Given the description of an element on the screen output the (x, y) to click on. 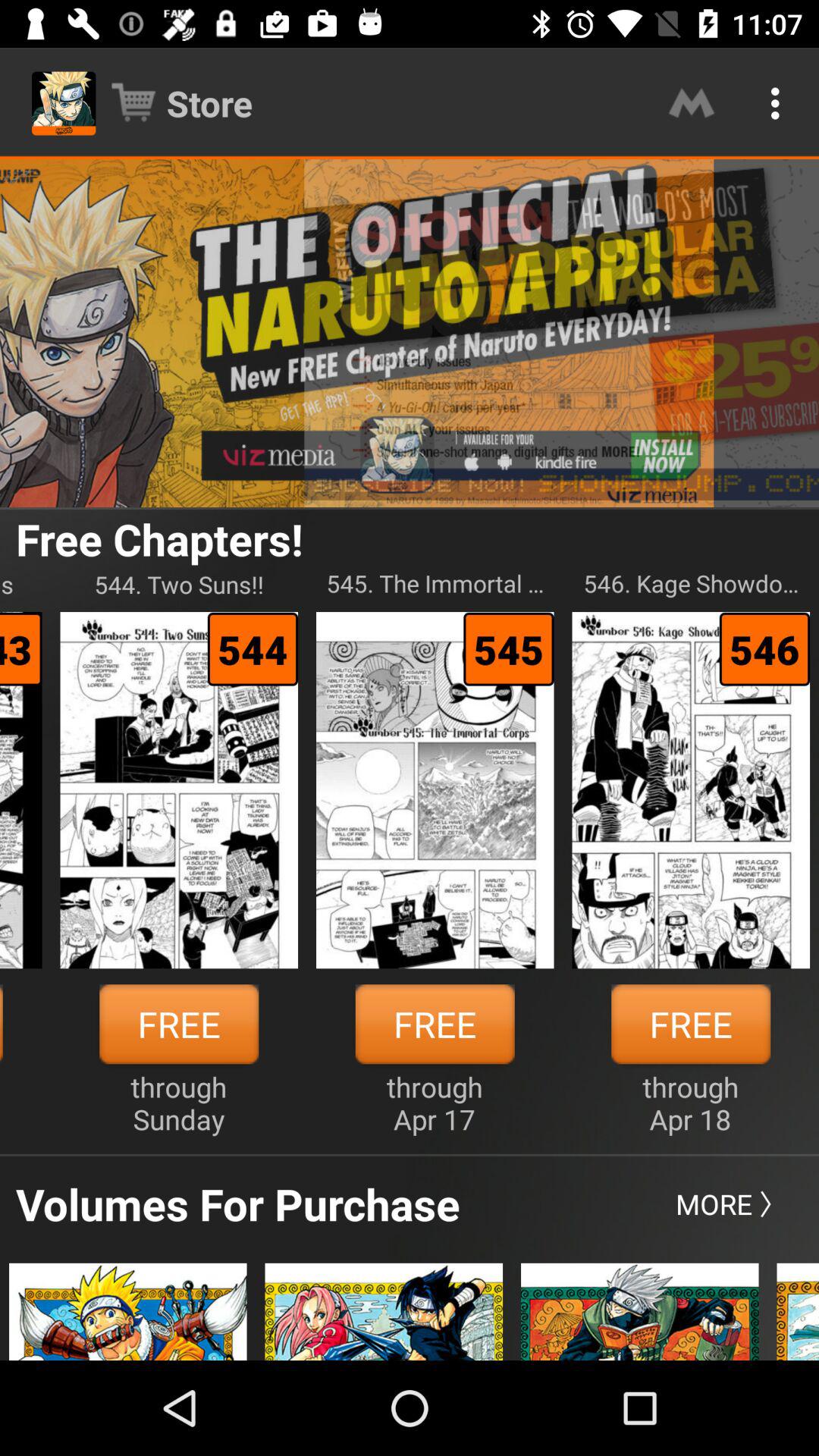
press the 544. two suns!! (179, 584)
